Given the description of an element on the screen output the (x, y) to click on. 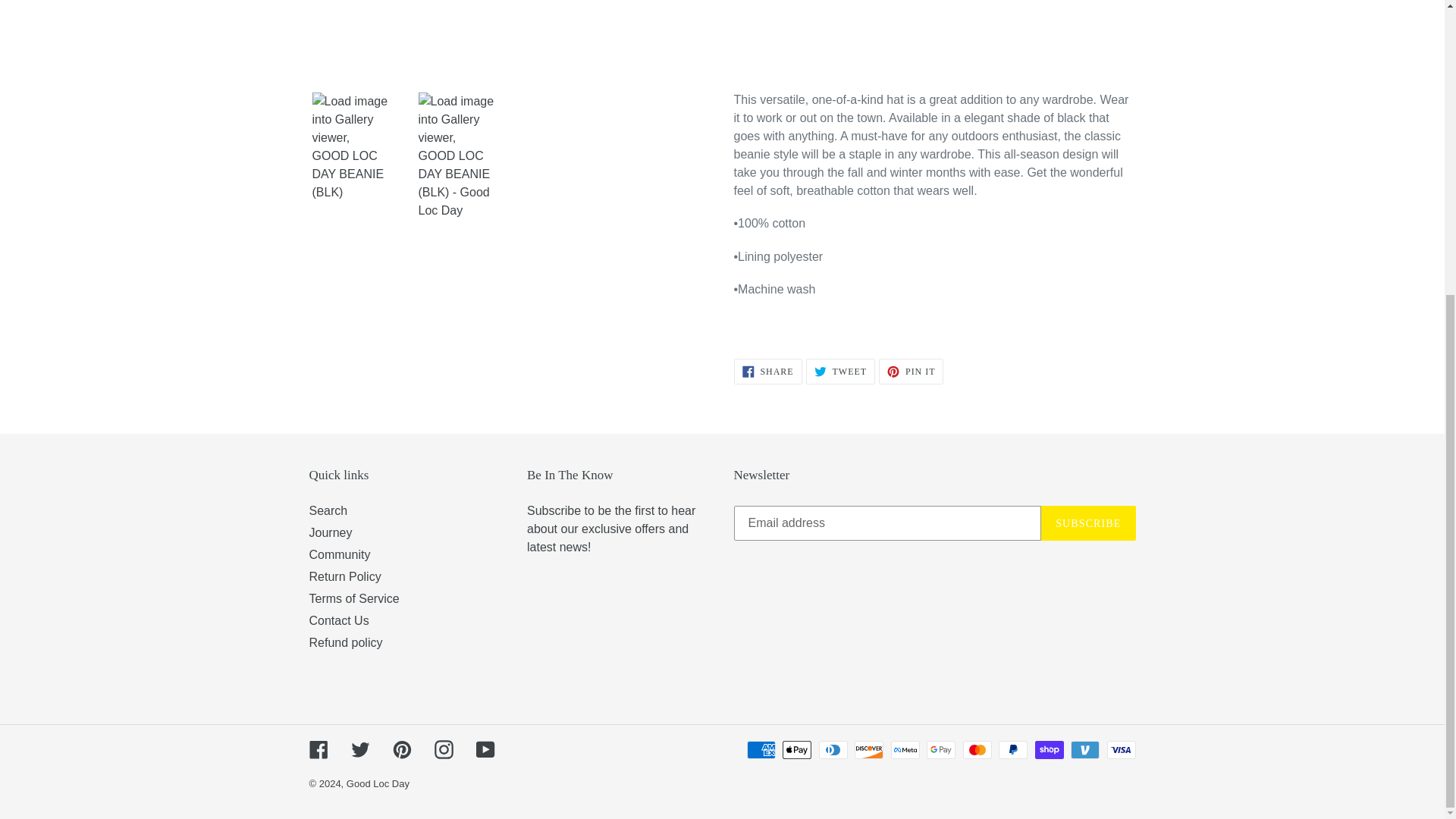
Terms of Service (840, 371)
Journey (353, 598)
Community (330, 532)
Search (767, 371)
Return Policy (911, 371)
Pinterest (339, 554)
SUBSCRIBE (327, 510)
